Given the description of an element on the screen output the (x, y) to click on. 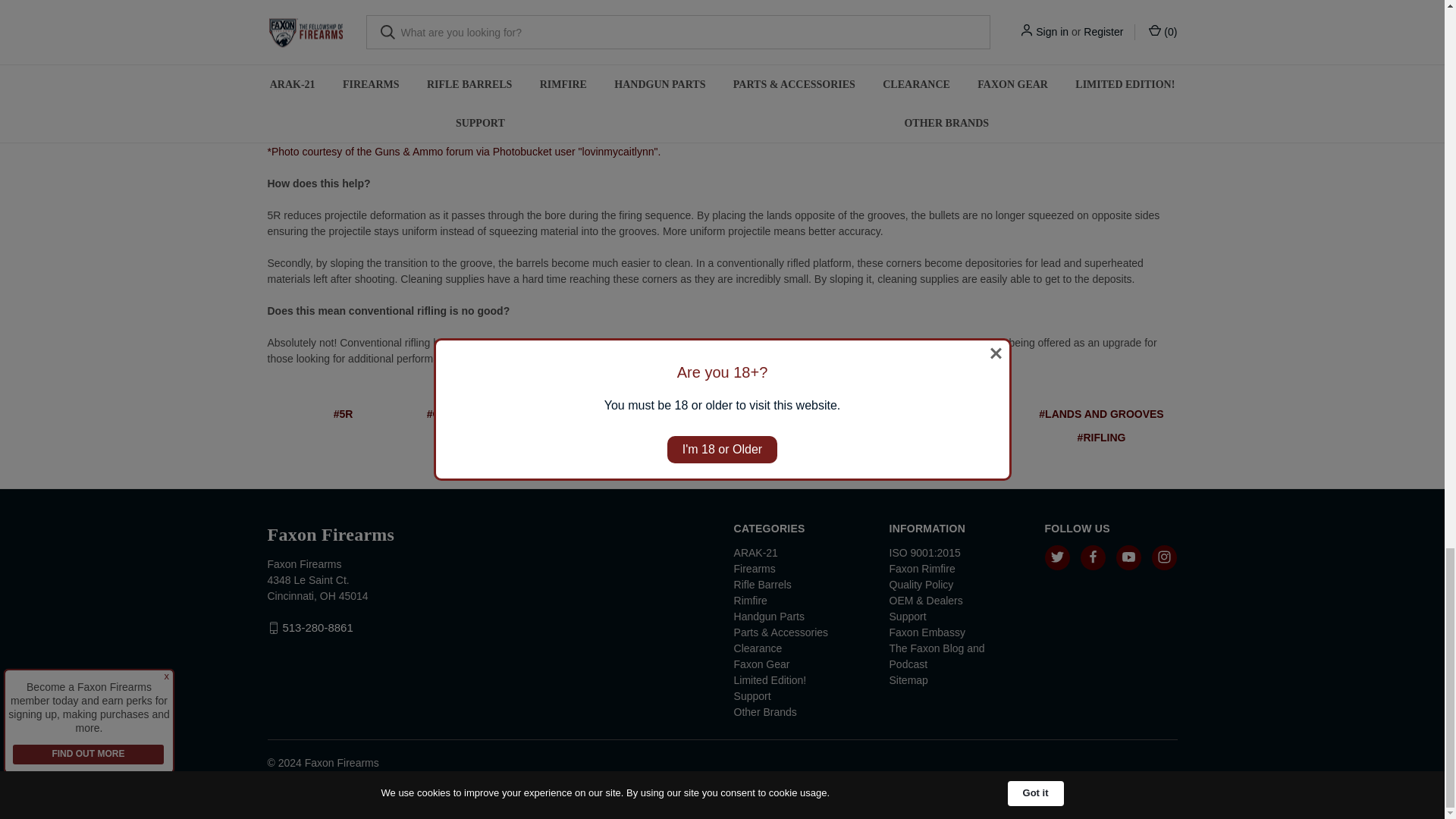
Email (676, 463)
Twitter (734, 463)
Linkedin (763, 463)
Pinterest (794, 463)
Facebook (648, 463)
Print (705, 463)
